Given the description of an element on the screen output the (x, y) to click on. 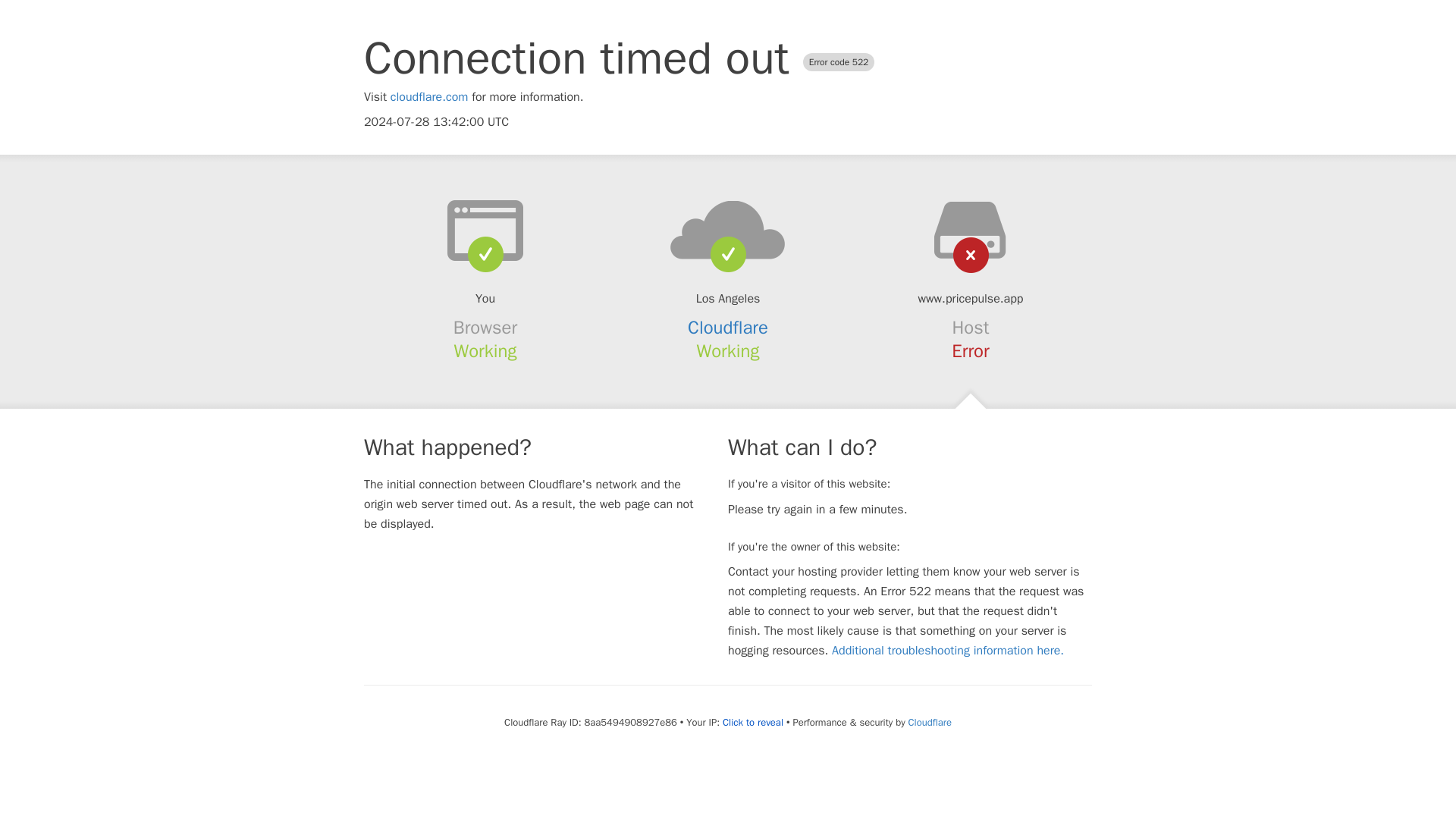
Cloudflare (930, 721)
Additional troubleshooting information here. (947, 650)
Cloudflare (727, 327)
Click to reveal (752, 722)
cloudflare.com (429, 96)
